Given the description of an element on the screen output the (x, y) to click on. 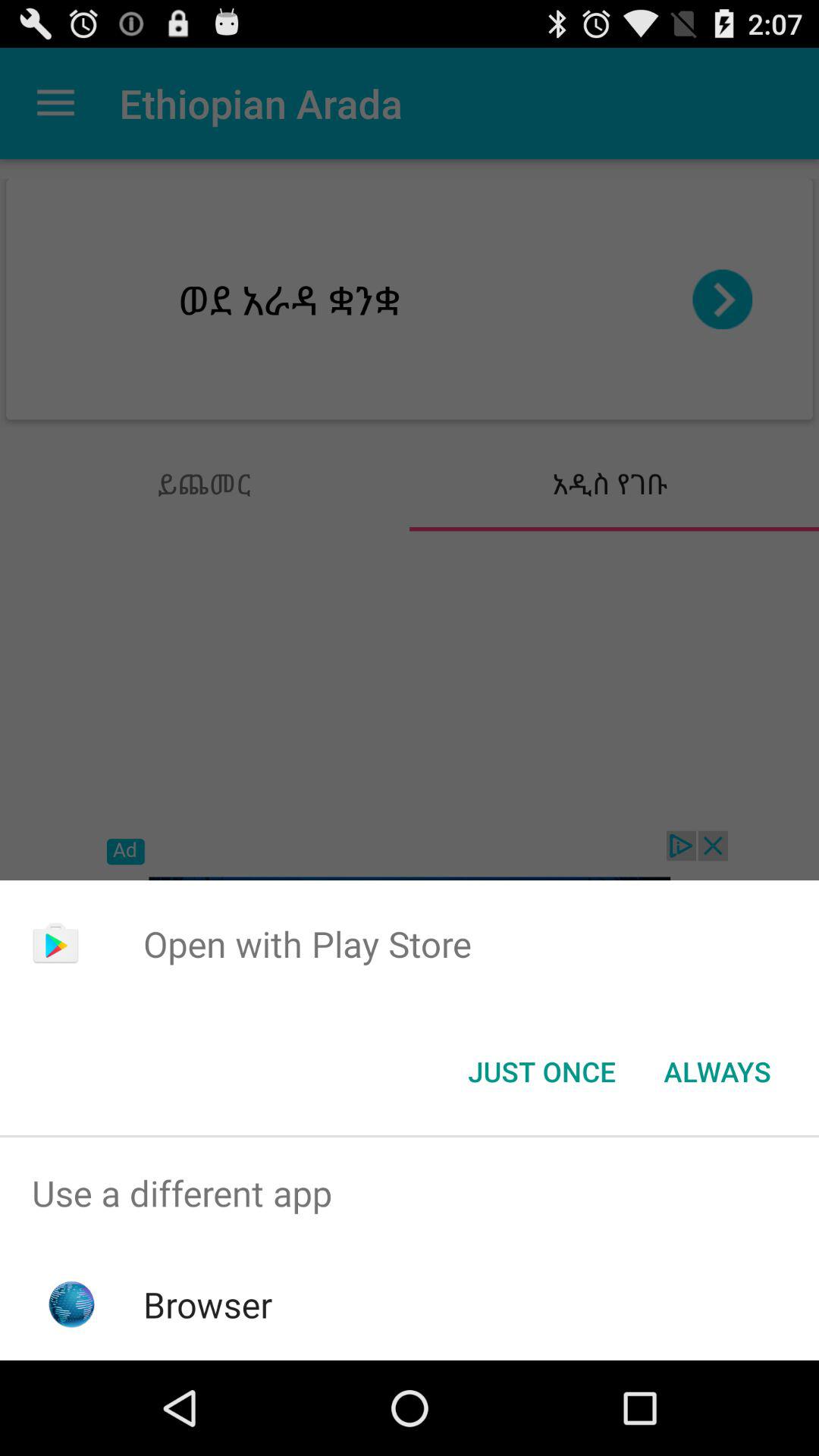
turn off item below the open with play icon (717, 1071)
